Given the description of an element on the screen output the (x, y) to click on. 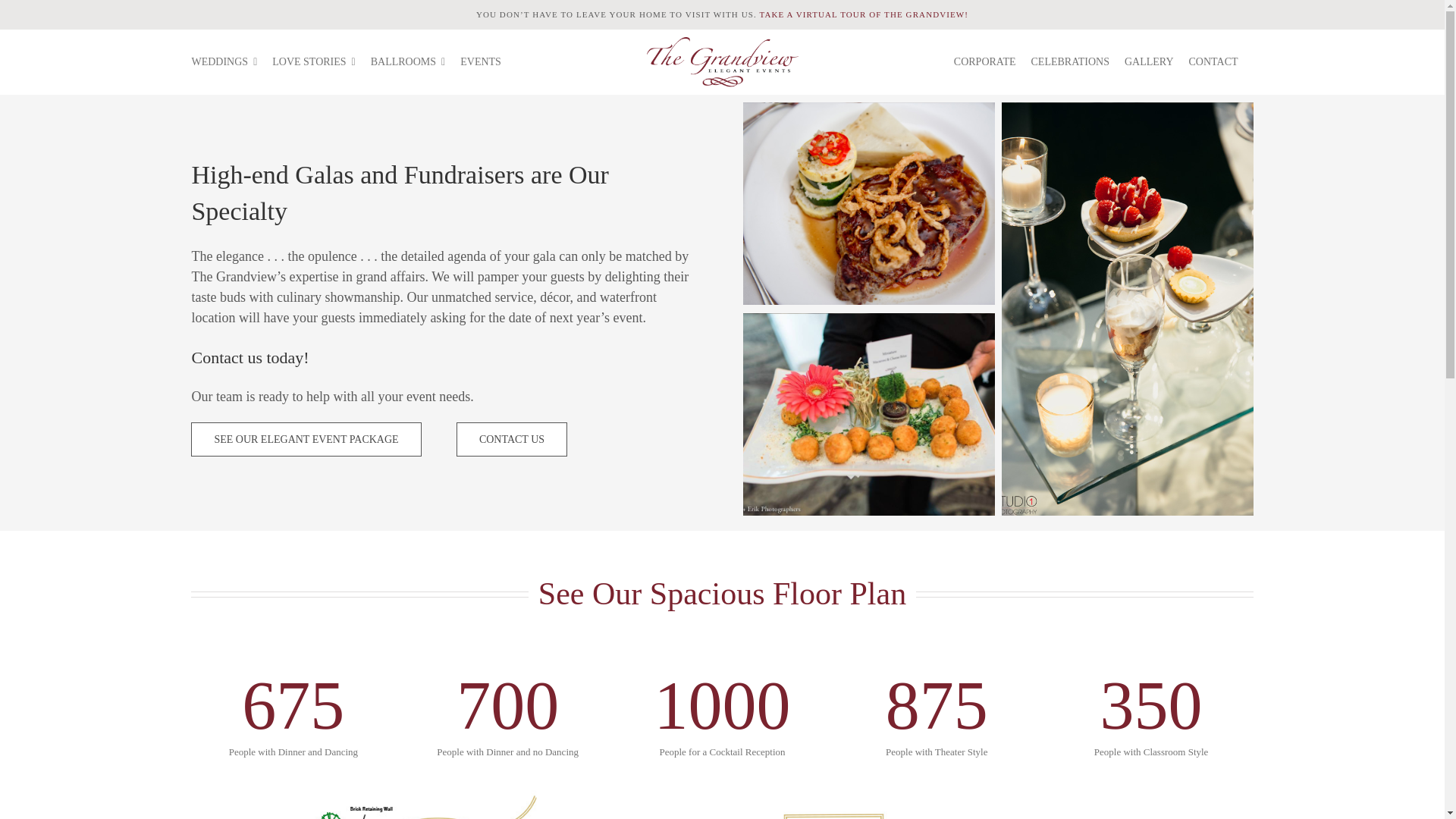
CORPORATE (991, 61)
TAKE A VIRTUAL TOUR OF THE GRANDVIEW! (863, 13)
EVENTS (488, 61)
WEDDINGS (231, 61)
LOVE STORIES (320, 61)
BALLROOMS (415, 61)
GV-FloorPlan (721, 802)
CONTACT (1221, 61)
CELEBRATIONS (1077, 61)
GALLERY (1156, 61)
